Given the description of an element on the screen output the (x, y) to click on. 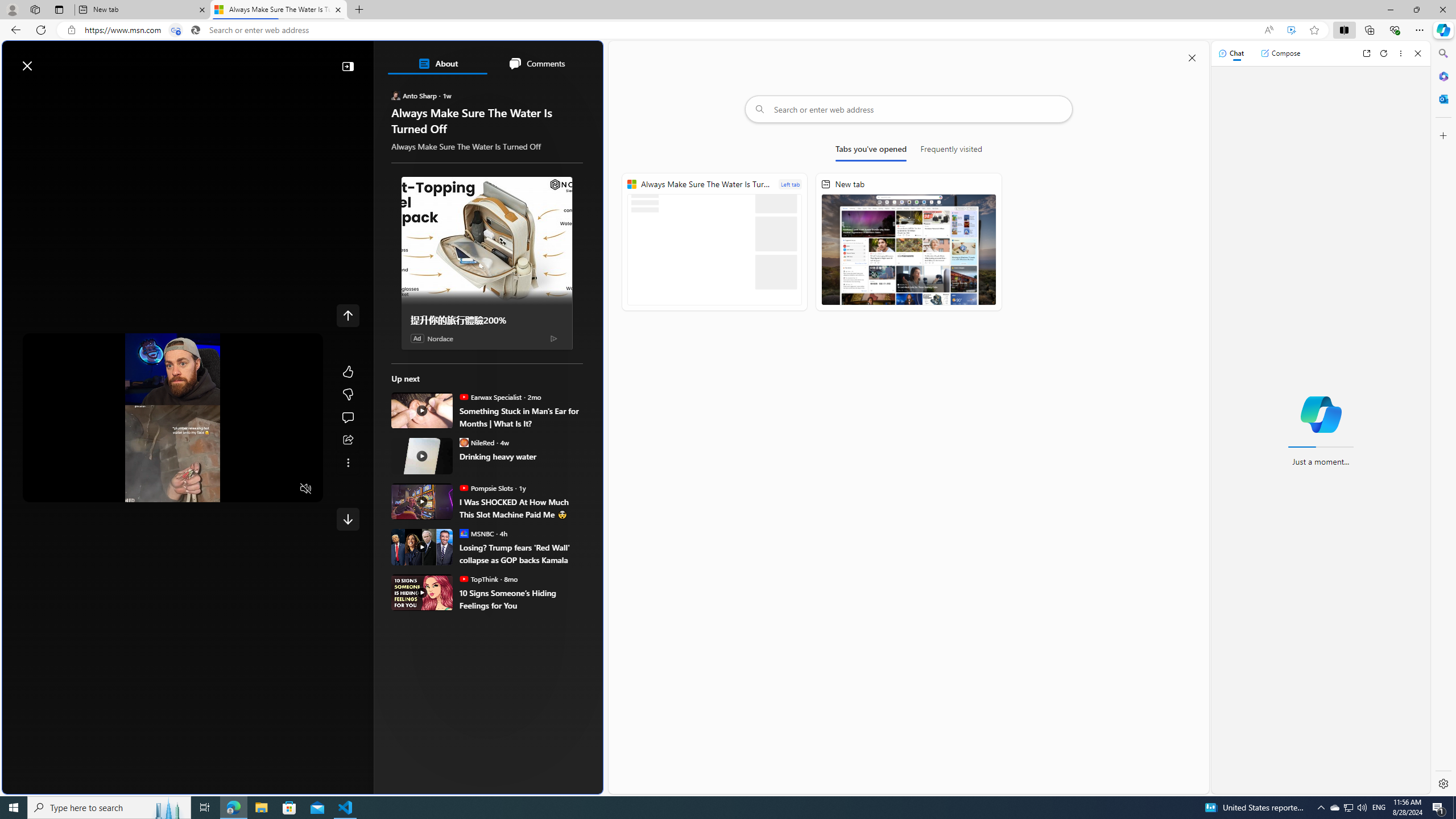
MSNBC (464, 533)
Skip to footer (46, 59)
Seek Forward (85, 488)
MSNBC MSNBC (476, 533)
Pompsie Slots (464, 488)
Anto Sharp (395, 95)
Earwax Specialist Earwax Specialist (491, 397)
Microsoft rewards (532, 60)
Earwax Specialist (464, 397)
